Given the description of an element on the screen output the (x, y) to click on. 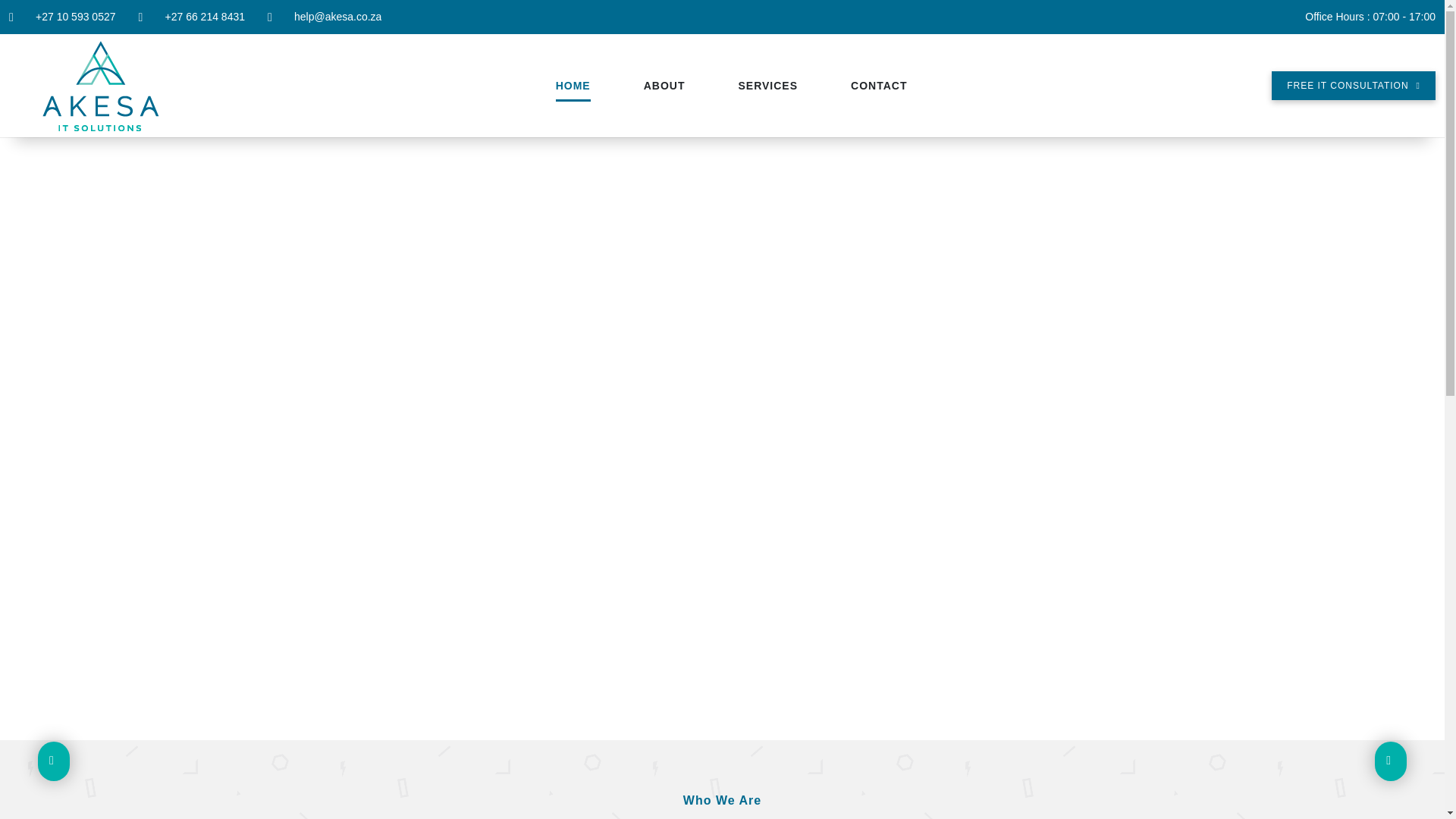
HOME (573, 85)
SERVICES (767, 85)
ABOUT (664, 85)
CONTACT (878, 85)
Get a Free IT Consultation (1353, 85)
FREE IT CONSULTATION (1353, 85)
